Given the description of an element on the screen output the (x, y) to click on. 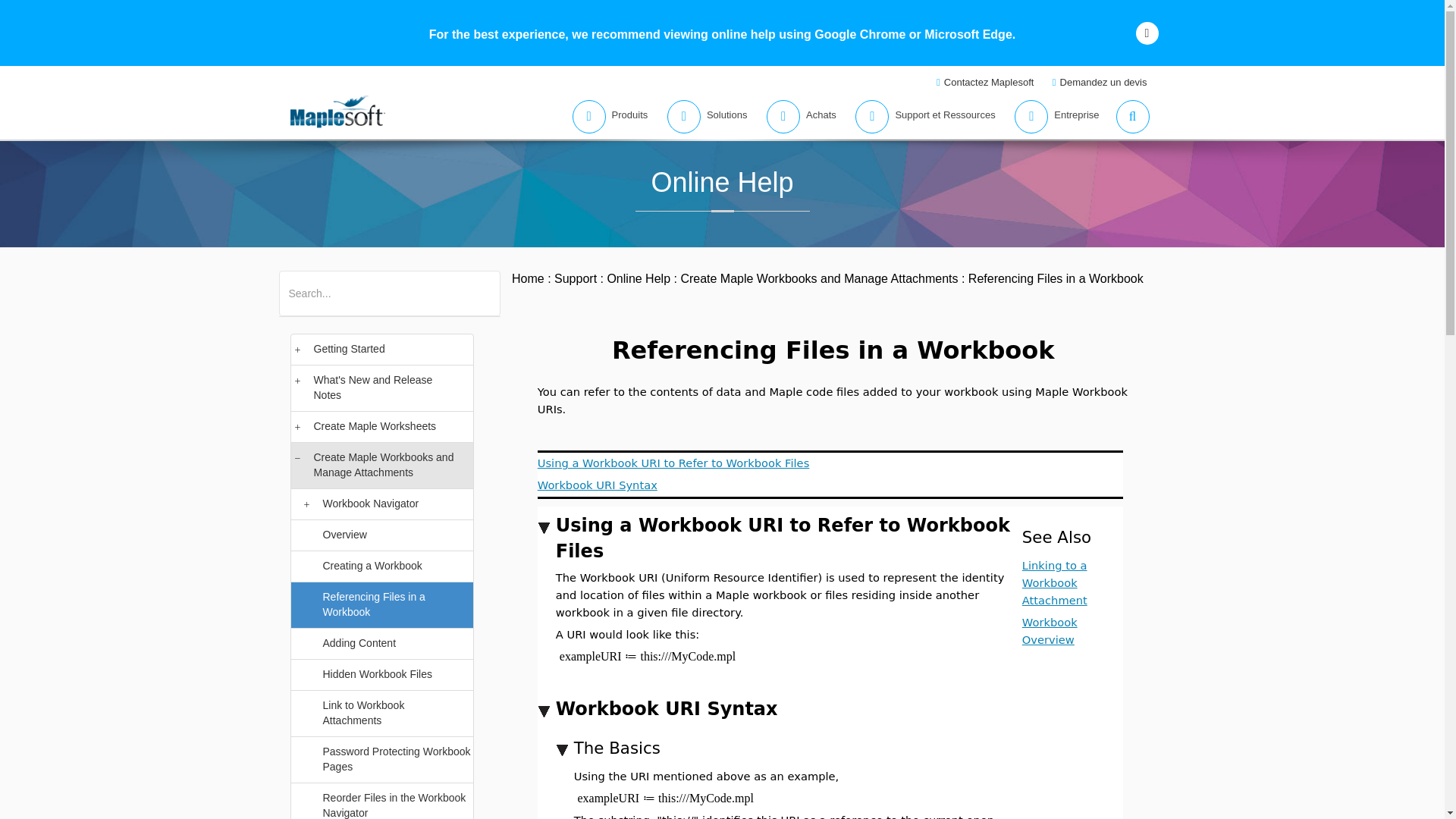
Produits (604, 116)
Solutions (702, 116)
Maple (367, 284)
MapleSim (415, 284)
All (294, 284)
Demandez un devis (1102, 81)
Contactez Maplesoft (986, 81)
